Given the description of an element on the screen output the (x, y) to click on. 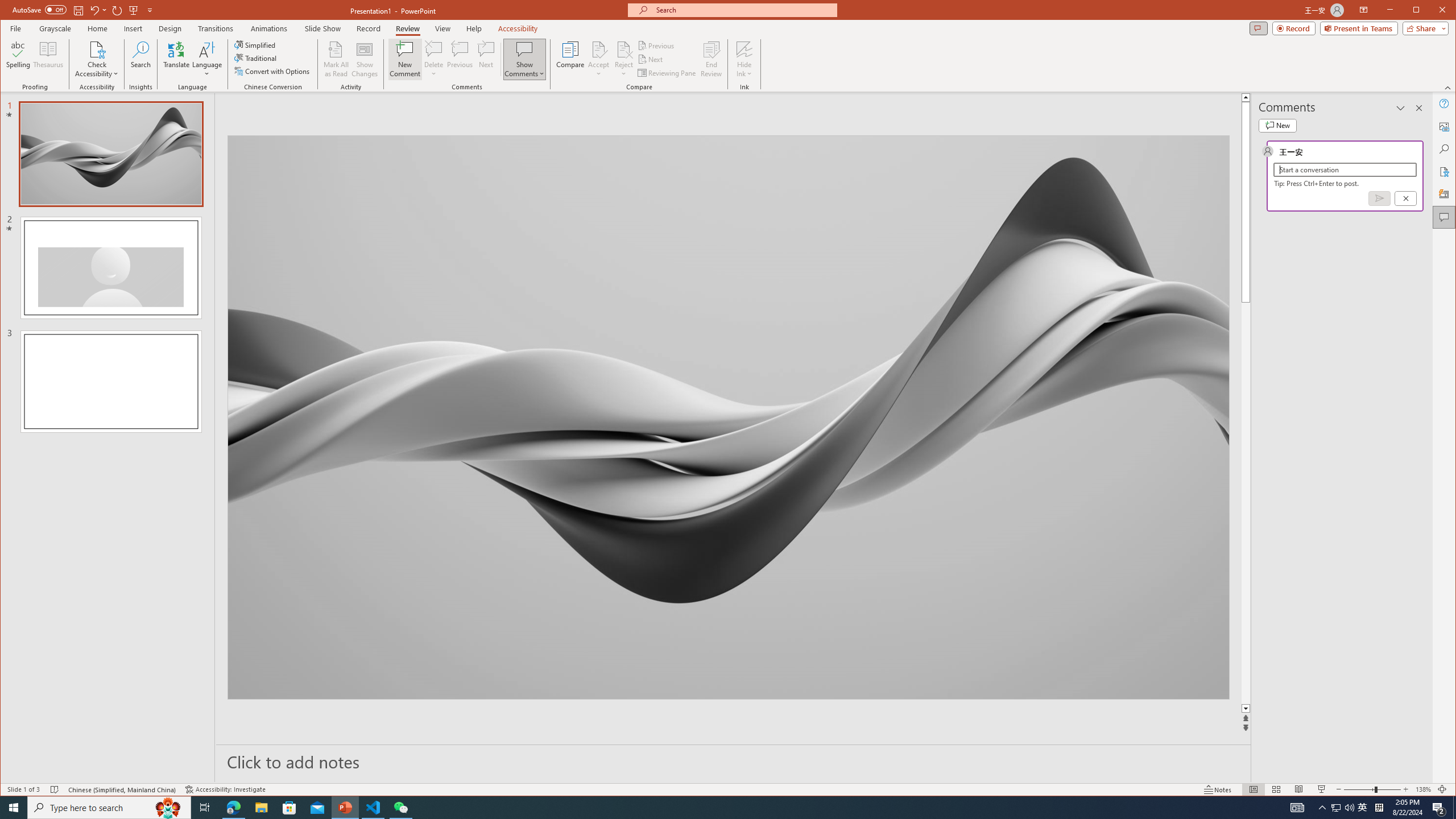
Post comment (Ctrl + Enter) (1379, 197)
Reviewing Pane (667, 72)
